Given the description of an element on the screen output the (x, y) to click on. 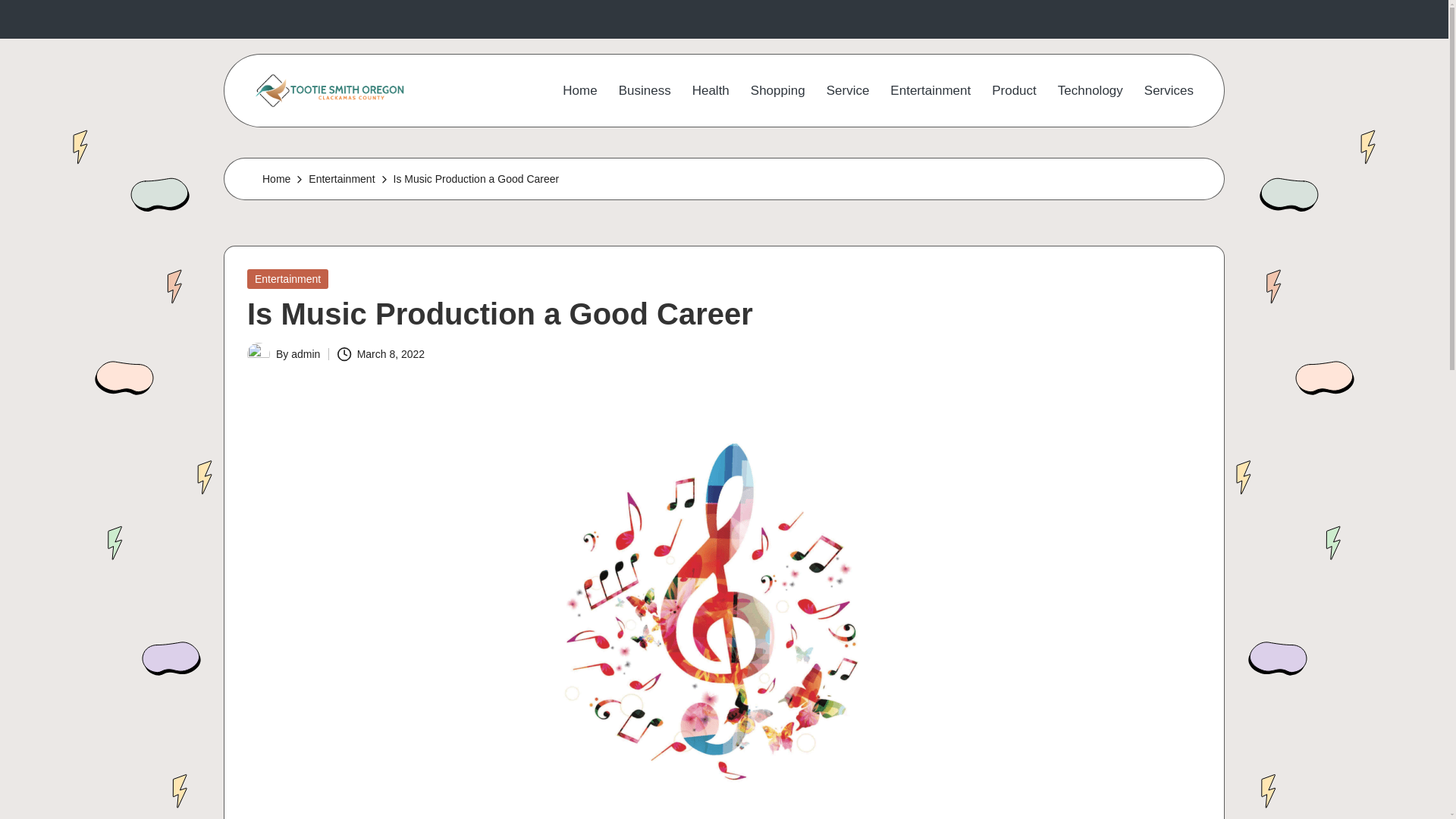
Services (1168, 90)
Entertainment (341, 179)
Entertainment (930, 90)
View all posts by admin (305, 354)
admin (305, 354)
Service (848, 90)
Shopping (778, 90)
Entertainment (288, 279)
Health (711, 90)
Technology (1090, 90)
